Given the description of an element on the screen output the (x, y) to click on. 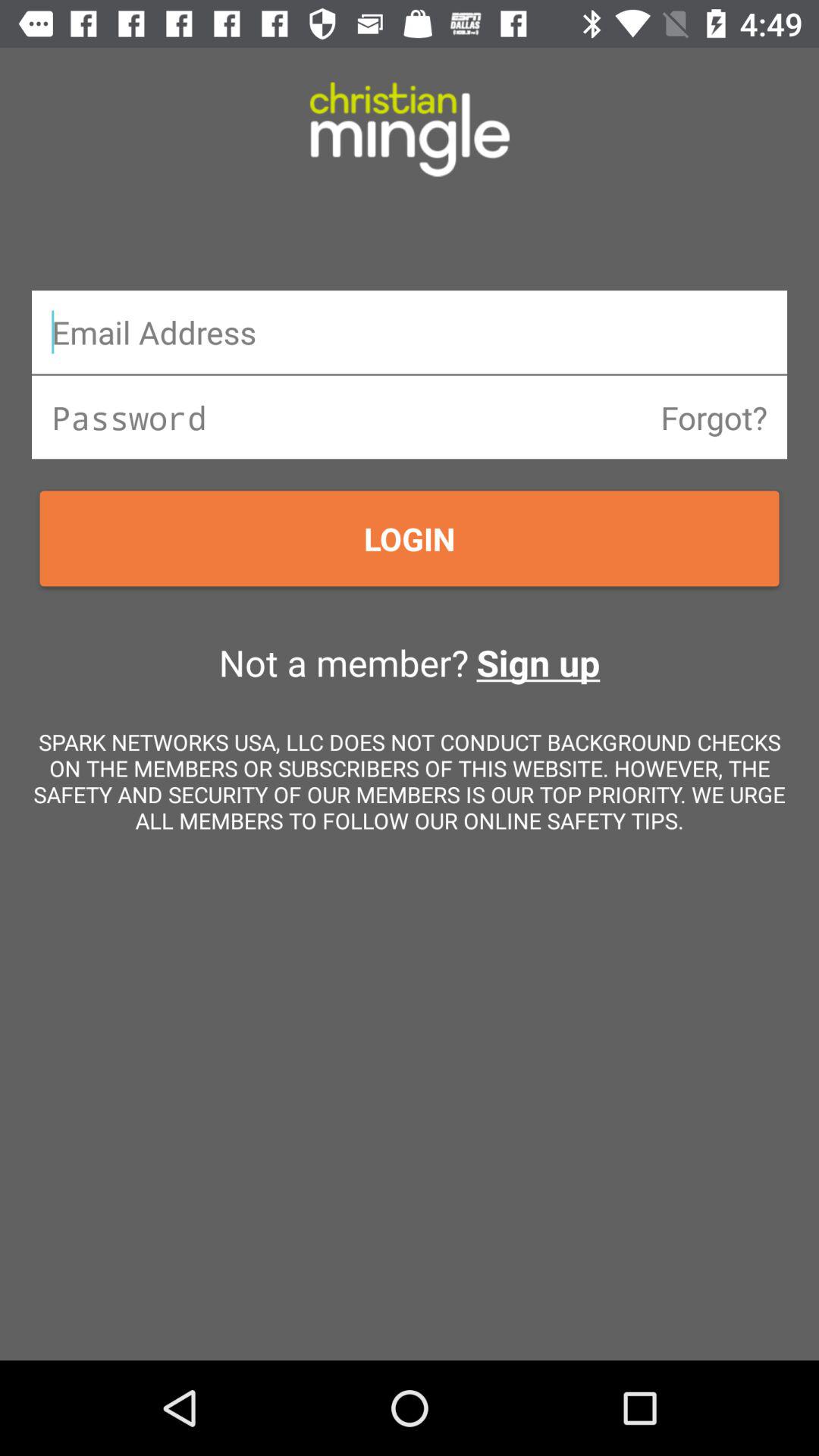
enter email address (409, 331)
